Given the description of an element on the screen output the (x, y) to click on. 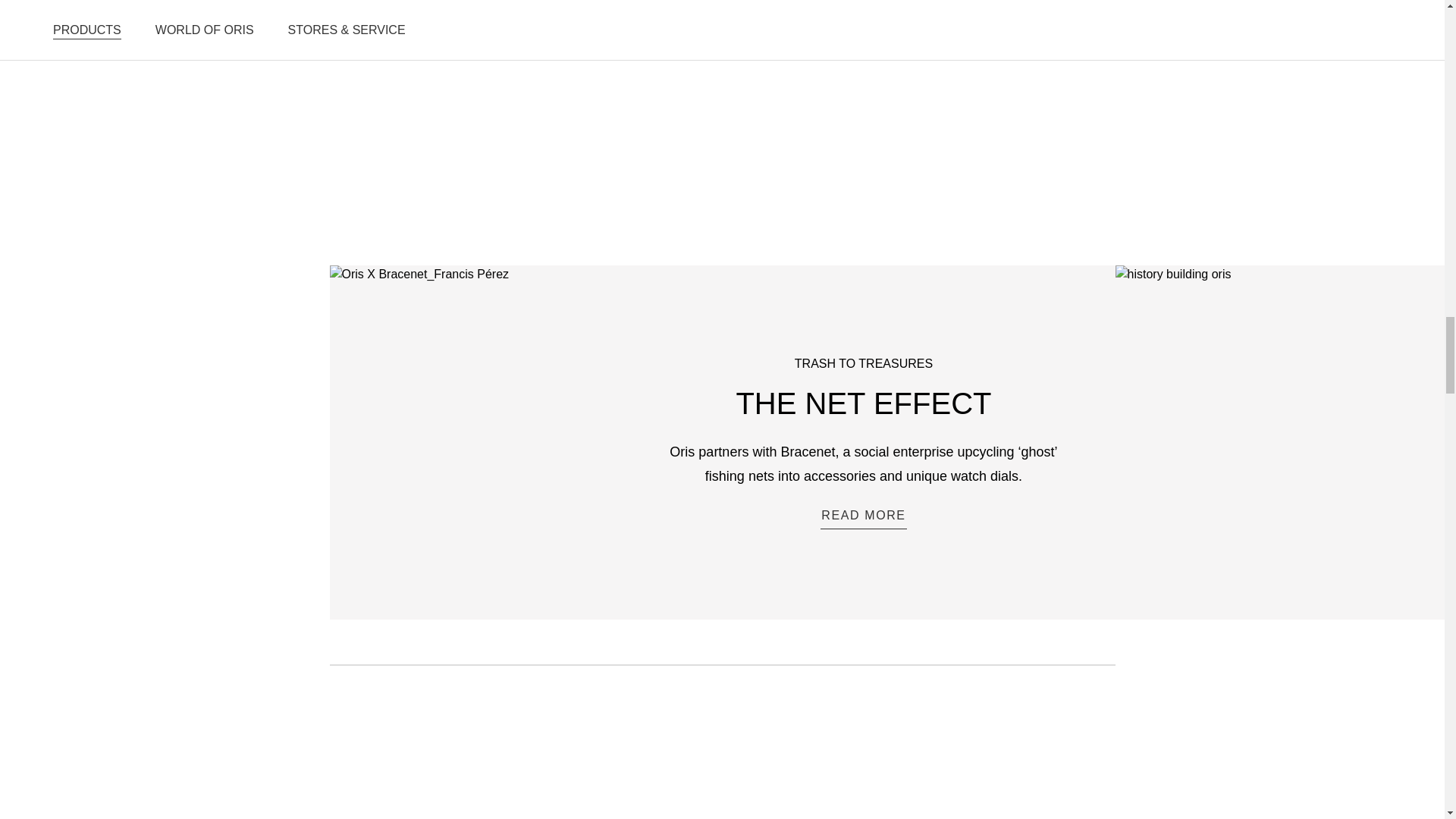
READ MORE (863, 517)
